Given the description of an element on the screen output the (x, y) to click on. 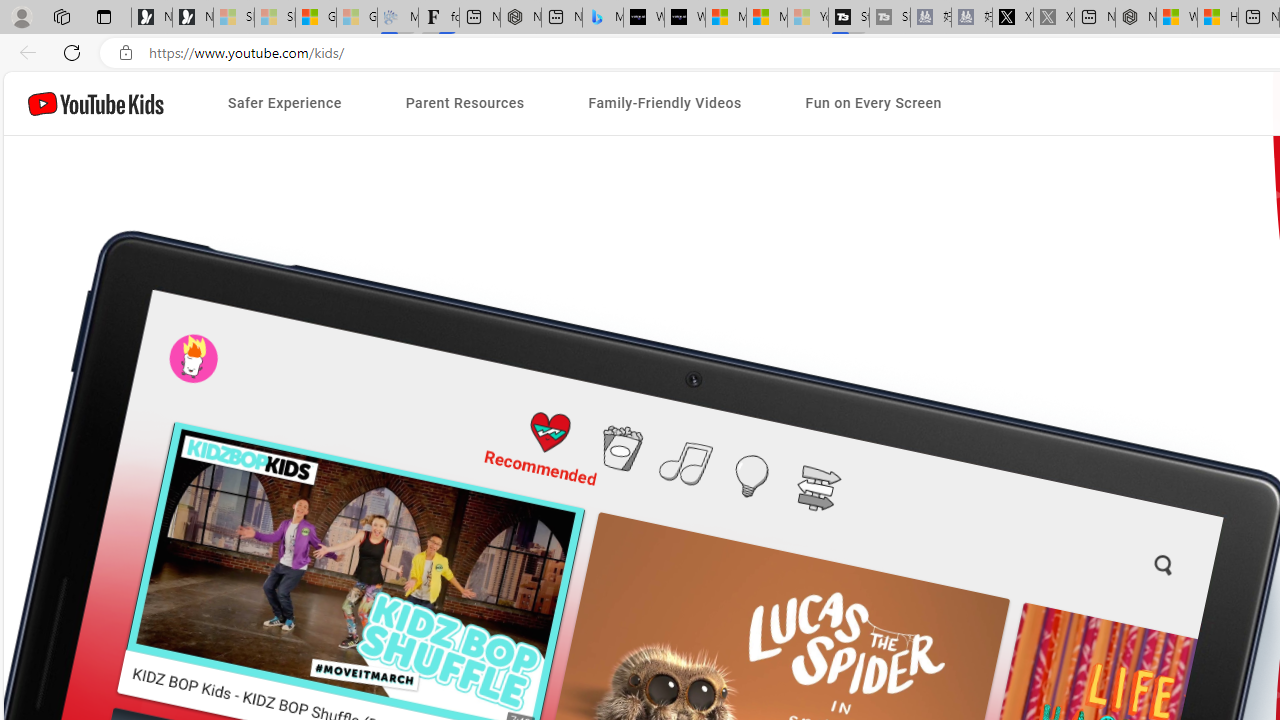
Safer Experience (284, 103)
Nordace - My Account (1135, 17)
Parent Resources (464, 103)
